Given the description of an element on the screen output the (x, y) to click on. 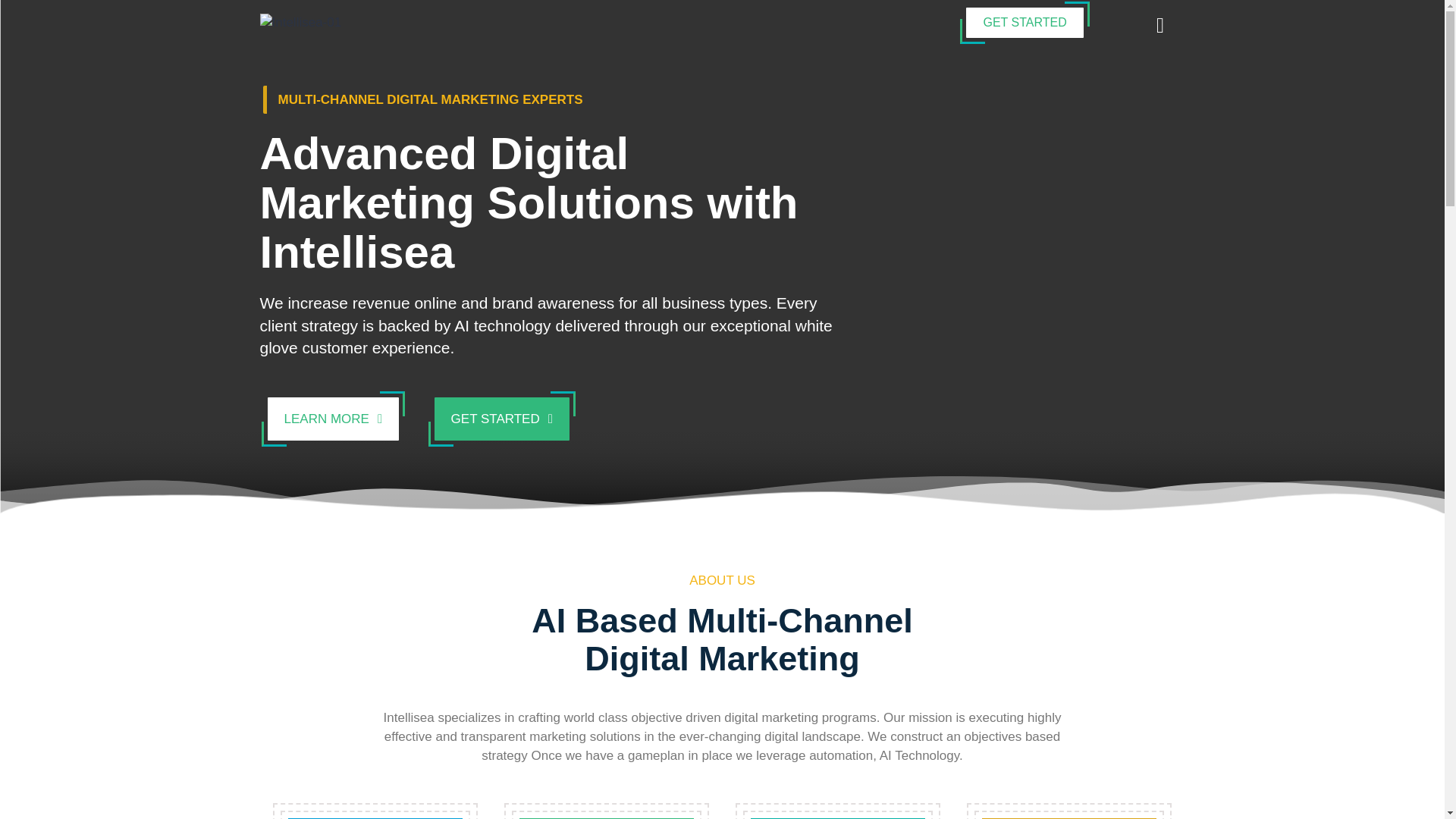
GET STARTED (1024, 22)
LEARN MORE (332, 418)
GET STARTED (501, 418)
